Given the description of an element on the screen output the (x, y) to click on. 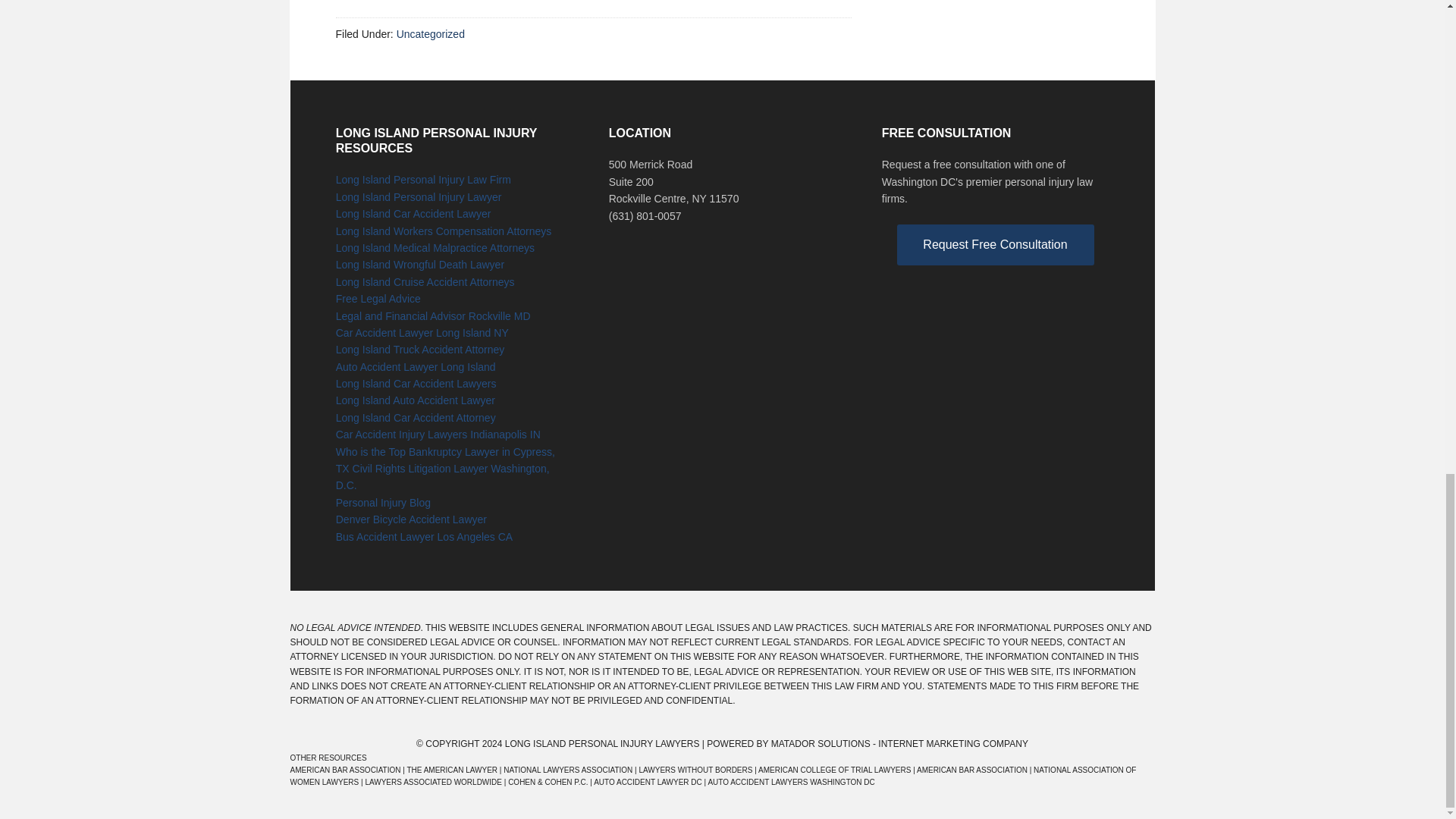
Long Island Medical Malpractice Attorneys (435, 247)
Long Island Truck Accident Attorney (420, 349)
Long Island Personal Injury Lawyer (419, 196)
Long Island Cruise Accident Attorneys (425, 282)
Long Island Workers Compensation Attorneys (443, 231)
Free Legal Advice (378, 298)
Uncategorized (430, 33)
Long Island Personal Injury Law Firm (423, 179)
Long Island Car Accident Lawyer (414, 214)
Long Island Wrongful Death Lawyer (419, 264)
